Given the description of an element on the screen output the (x, y) to click on. 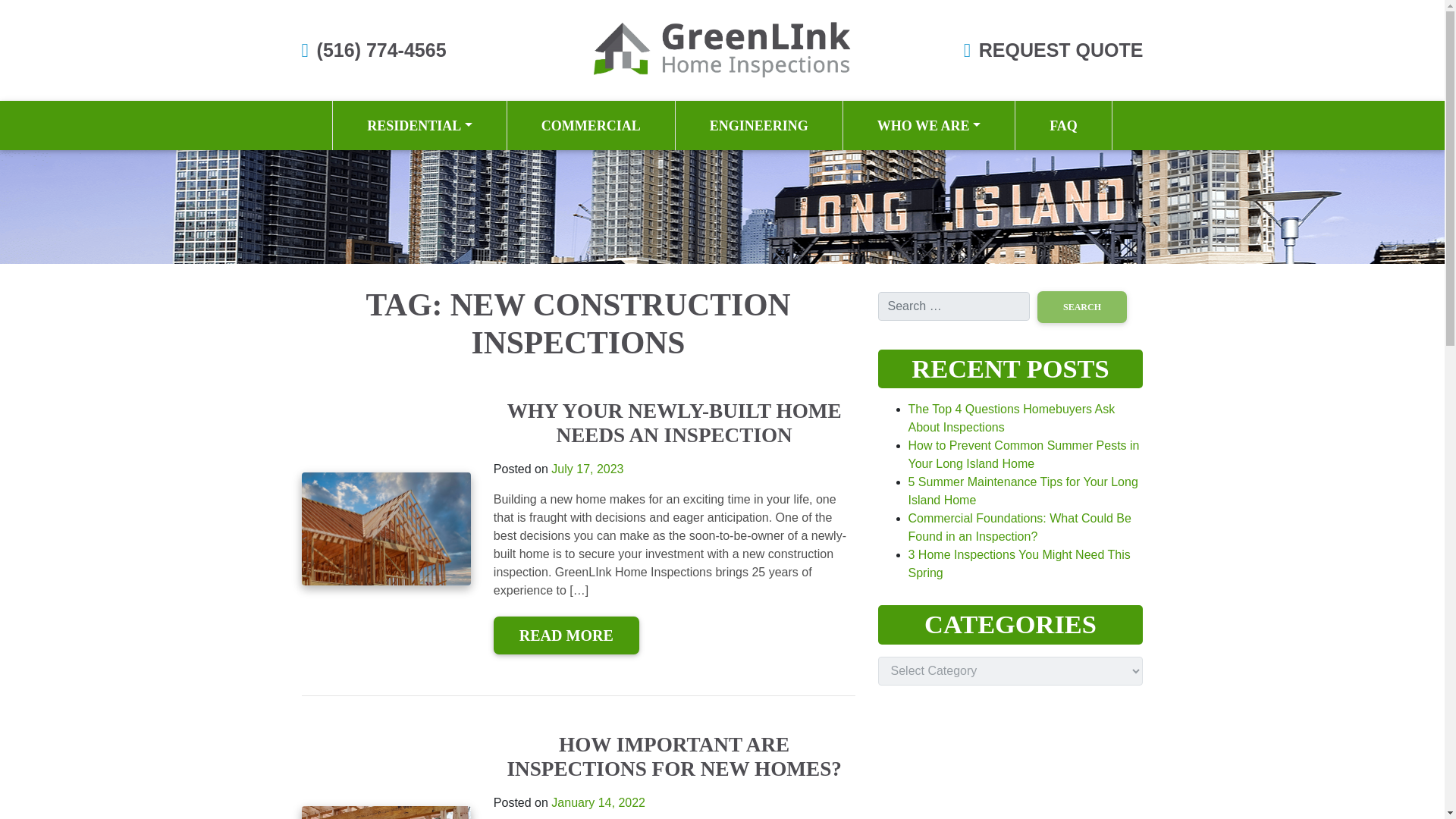
January 14, 2022 (598, 802)
Search (1081, 306)
Search (1081, 306)
READ MORE (566, 635)
July 17, 2023 (587, 468)
ENGINEERING (759, 124)
RESIDENTIAL (419, 124)
3 Home Inspections You Might Need This Spring (1019, 563)
FAQ (1063, 124)
Search (1081, 306)
COMMERCIAL (590, 124)
5 Summer Maintenance Tips for Your Long Island Home (1023, 490)
REQUEST QUOTE (1060, 49)
How to Prevent Common Summer Pests in Your Long Island Home (1024, 454)
